Given the description of an element on the screen output the (x, y) to click on. 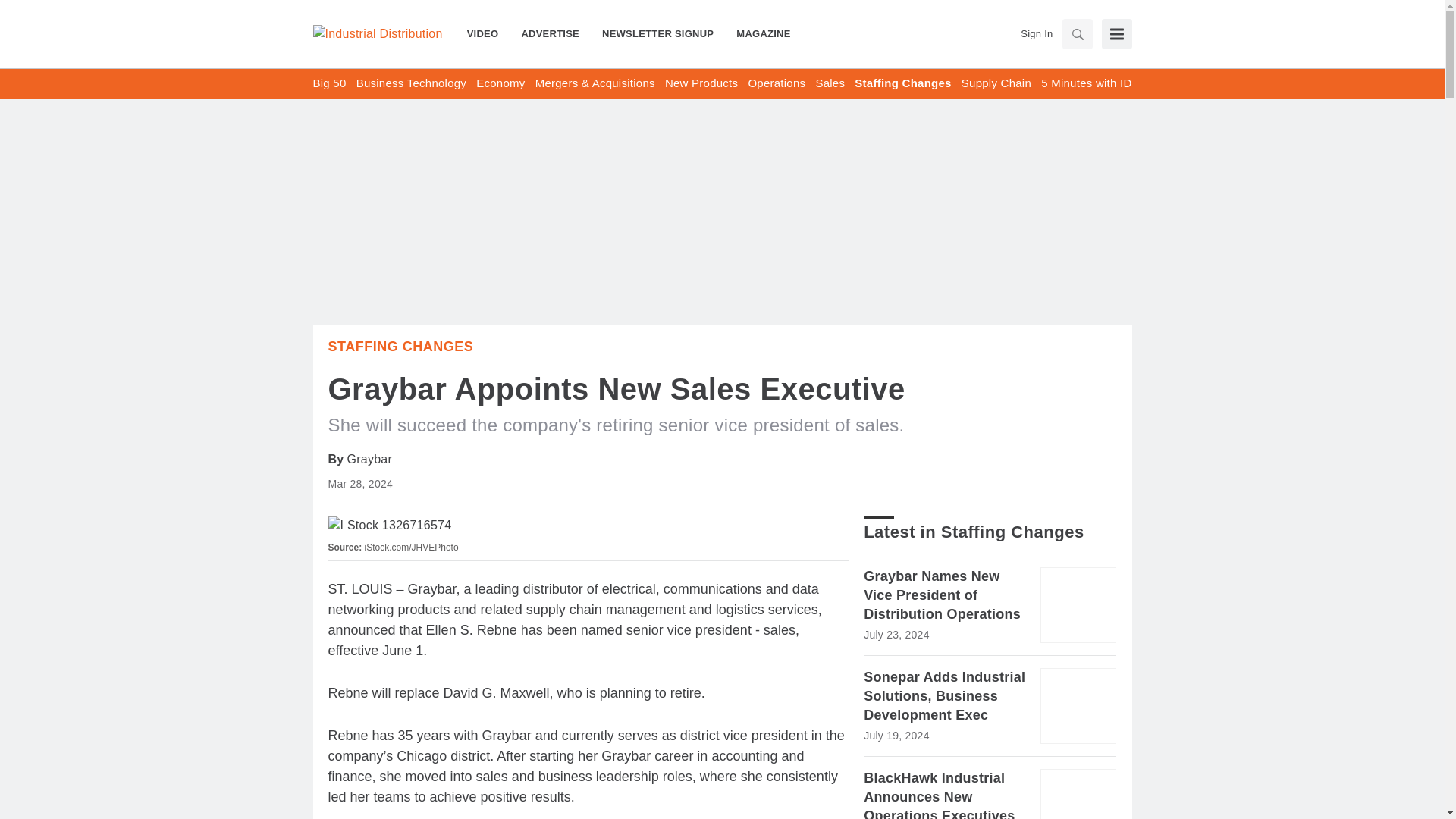
ADVERTISE (550, 33)
Staffing Changes (902, 83)
Sales (829, 83)
Staffing Changes (400, 346)
Business Technology (410, 83)
Sign In (1036, 33)
Economy (500, 83)
NEWSLETTER SIGNUP (658, 33)
VIDEO (489, 33)
5 Minutes with ID (1086, 83)
Big 50 (329, 83)
Operations (776, 83)
MAGAZINE (757, 33)
New Products (701, 83)
Supply Chain (995, 83)
